Given the description of an element on the screen output the (x, y) to click on. 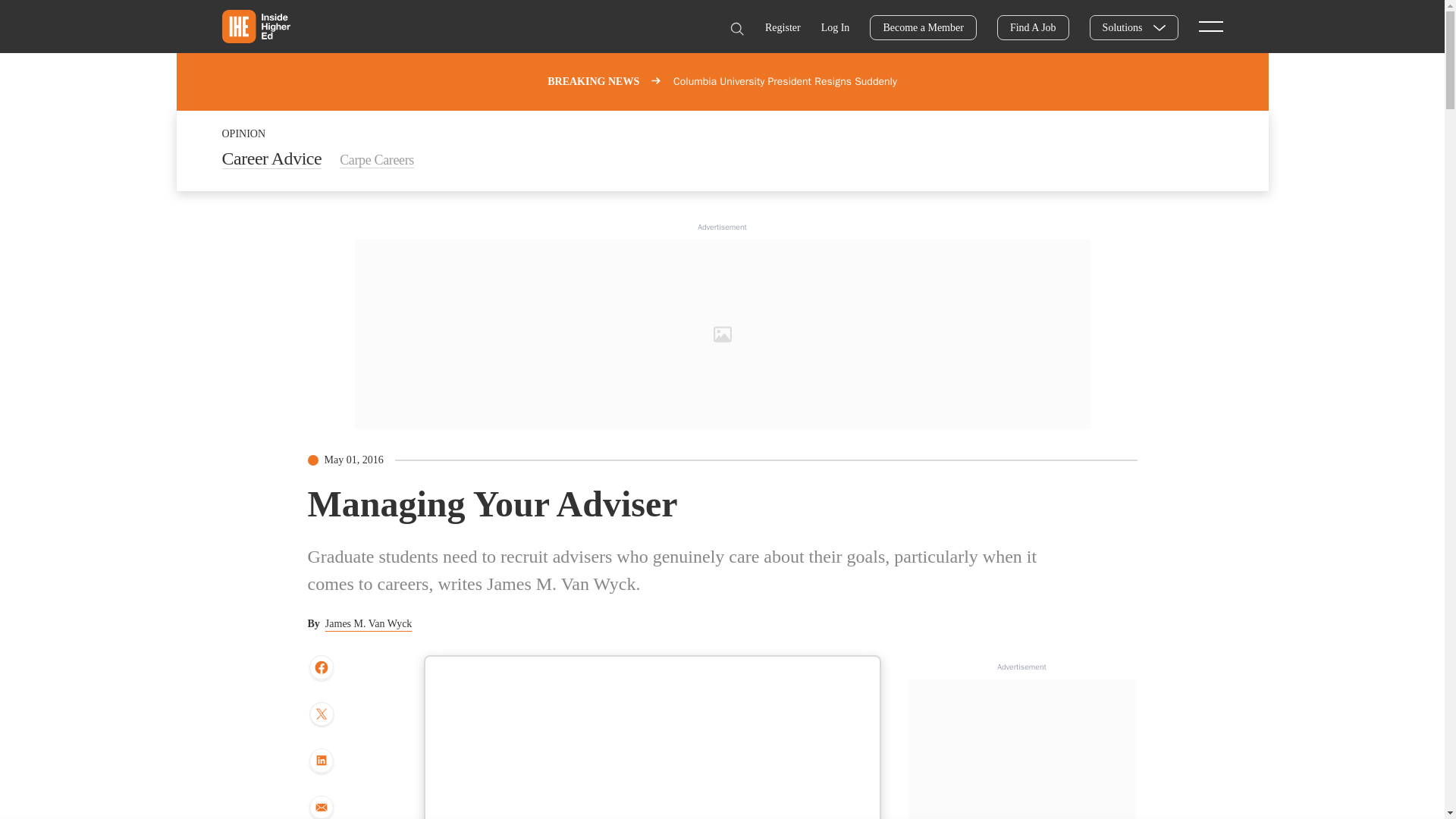
share to facebook (320, 668)
Find A Job (1032, 27)
Become a Member (922, 27)
Home (255, 26)
share to Linkedin (320, 761)
share to twitter (320, 715)
share by email (320, 807)
Search (736, 28)
